Given the description of an element on the screen output the (x, y) to click on. 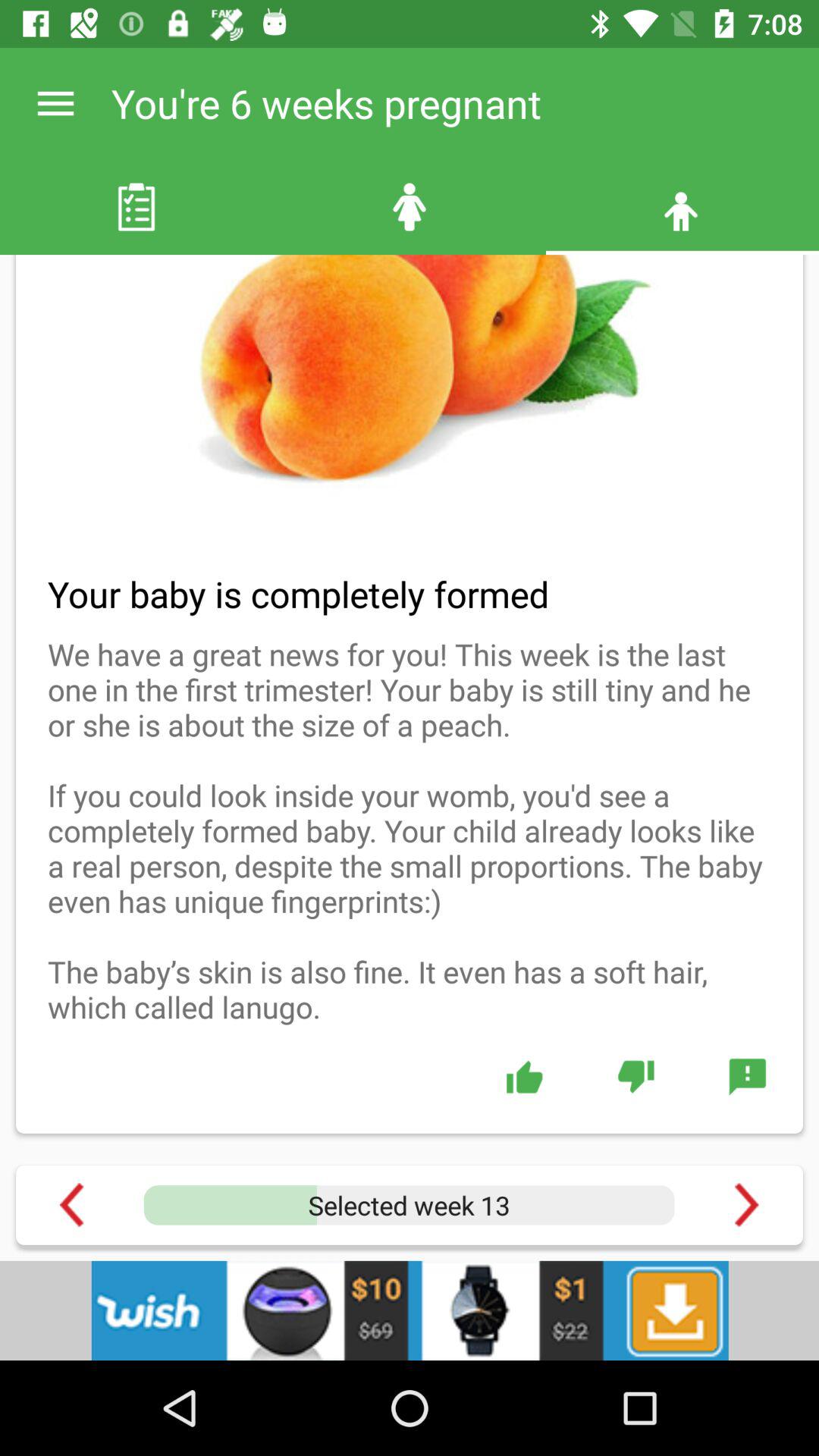
click on the male third icon (682, 207)
click on the green colored like button (523, 1076)
click on the button which is next to the menu button (409, 207)
select the icon above the forward arrow button on the web page (747, 1076)
